Given the description of an element on the screen output the (x, y) to click on. 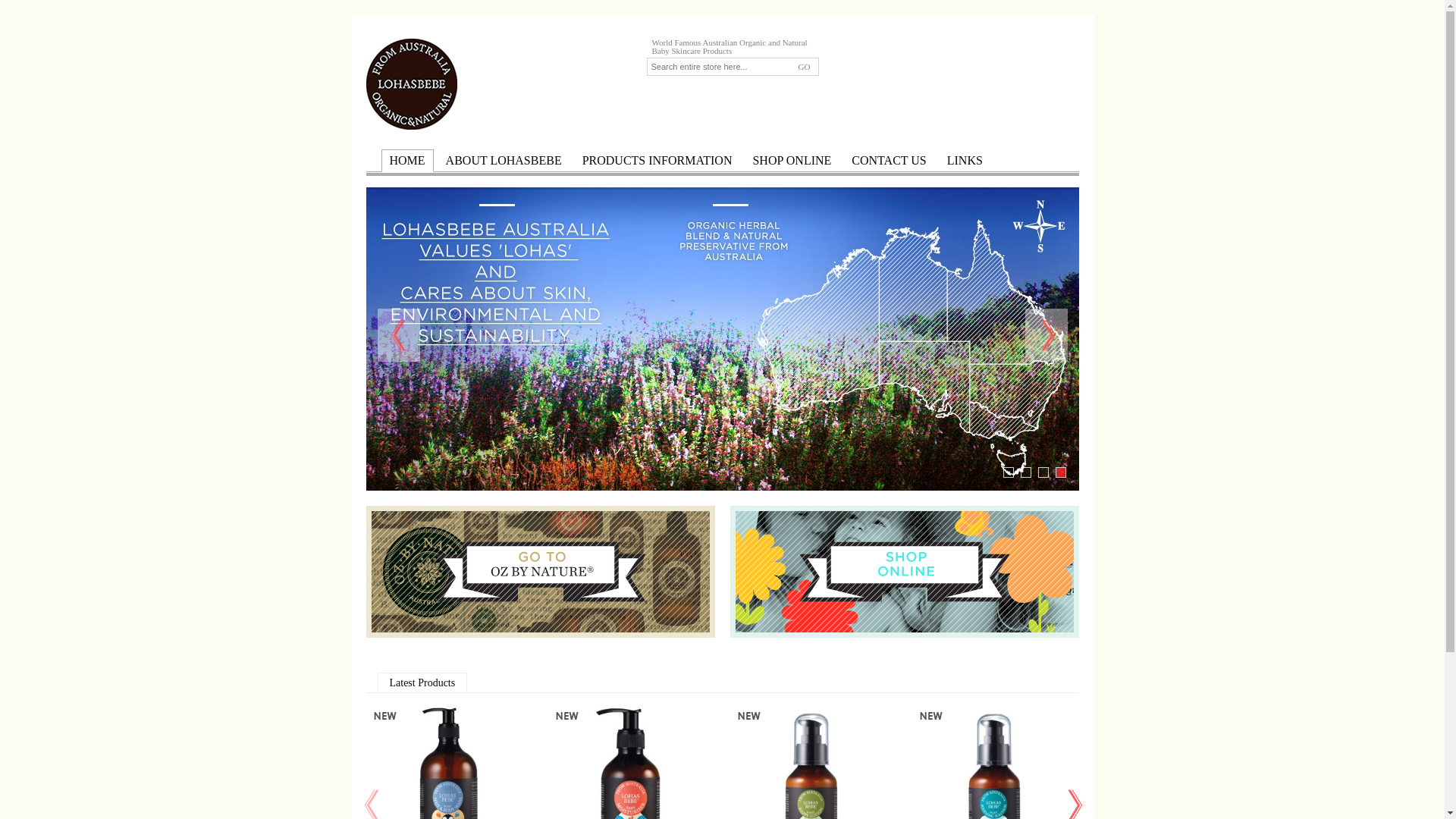
HOME Element type: text (407, 160)
LINKS Element type: text (964, 160)
GO Element type: text (803, 66)
ABOUT LOHASBEBE Element type: text (503, 160)
SHOP ONLINE Element type: text (791, 160)
PRODUCTS INFORMATION Element type: text (657, 160)
CONTACT US Element type: text (888, 160)
